Given the description of an element on the screen output the (x, y) to click on. 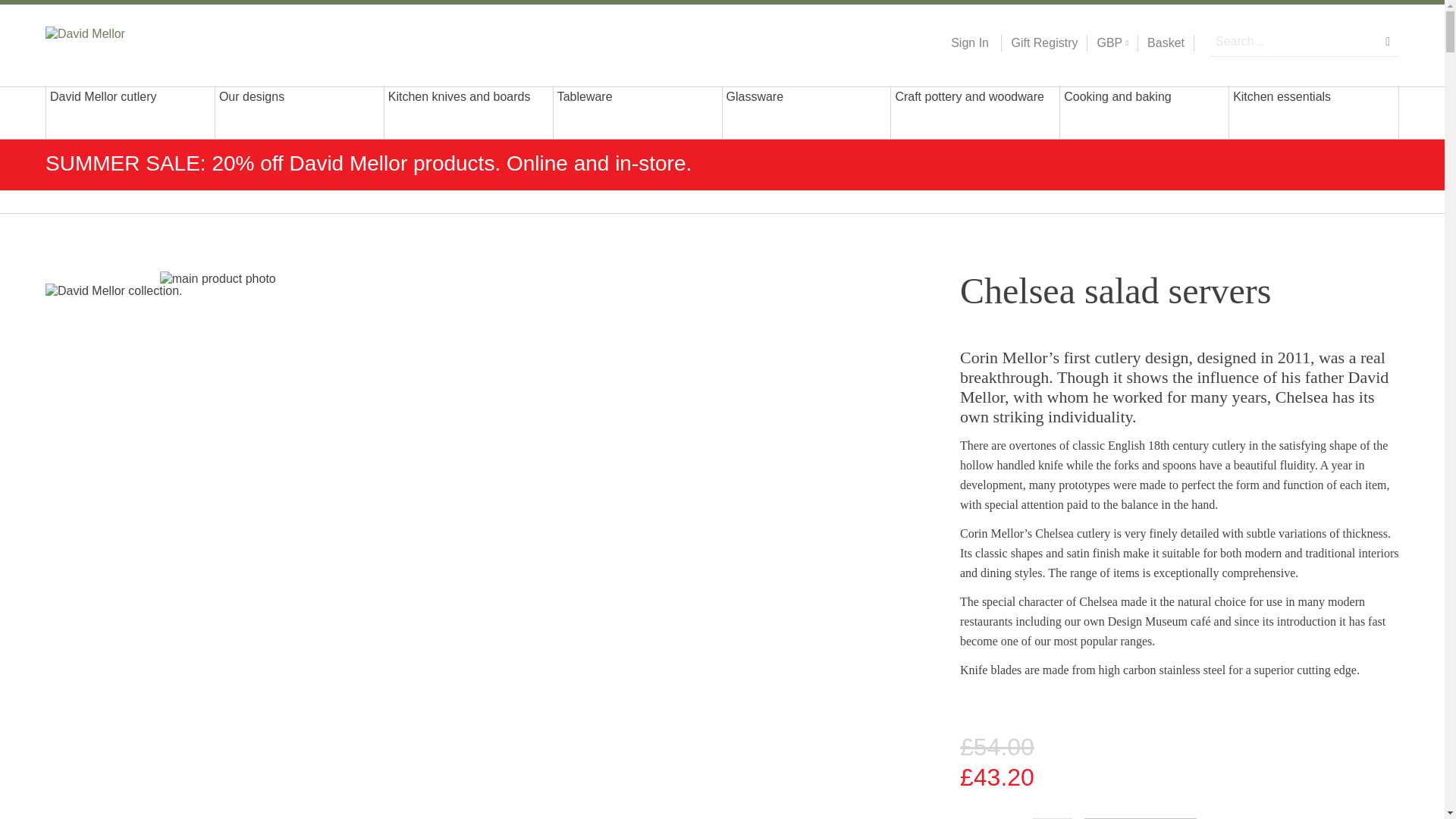
David Mellor (143, 42)
1 (1052, 818)
Search (1388, 41)
Basket (1166, 43)
Search (1388, 41)
Sign In (969, 43)
Qty (1052, 818)
Gift Registry (1039, 43)
David Mellor cutlery (130, 112)
